Given the description of an element on the screen output the (x, y) to click on. 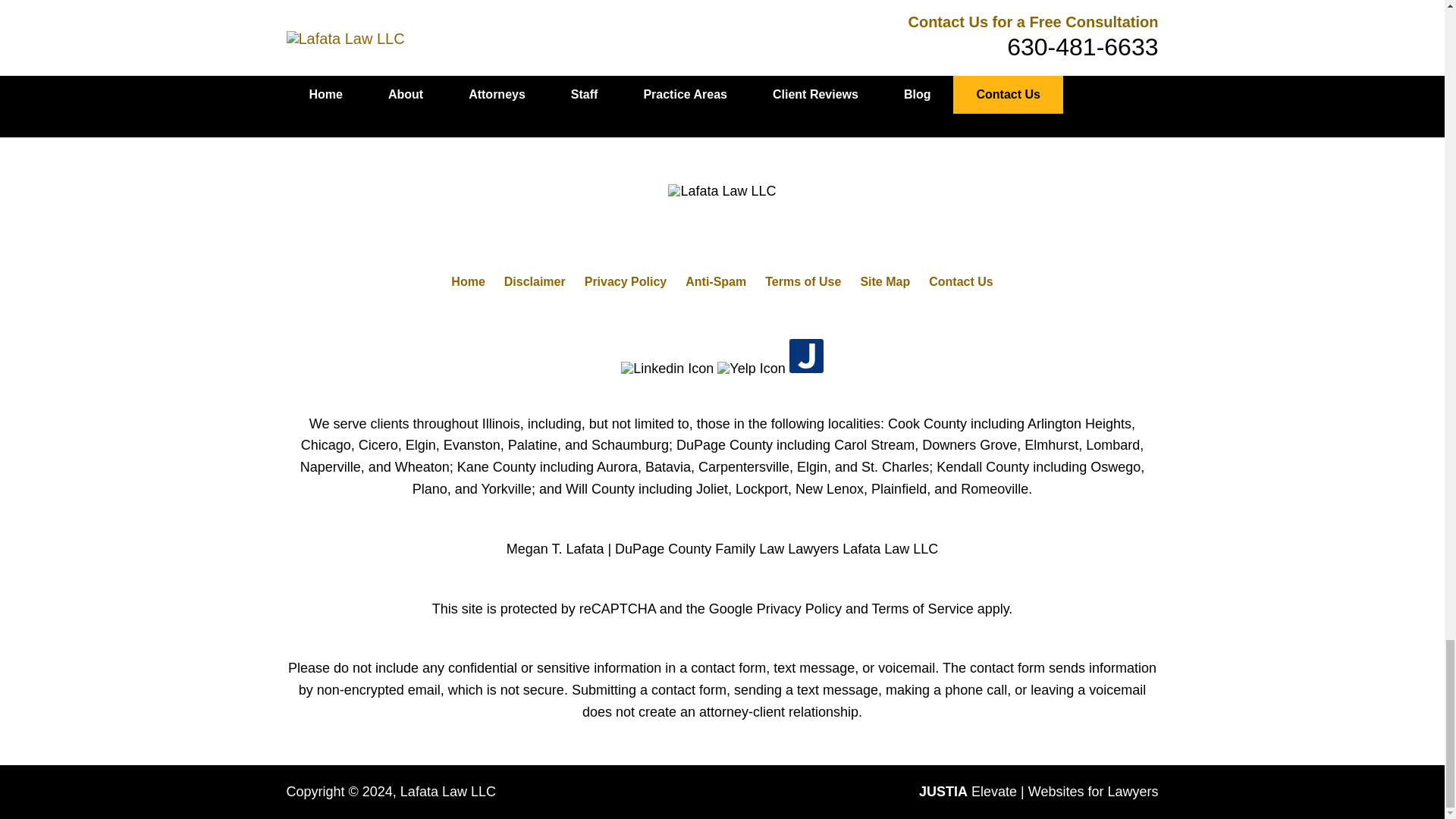
Terms of Use (803, 281)
Disclaimer (534, 281)
Linkedin (667, 368)
Lafata Law LLC (448, 791)
Contact Us (960, 281)
Site Map (885, 281)
Google Privacy Policy (775, 608)
Anti-Spam (715, 281)
Terms of Service (923, 608)
Yelp (750, 368)
Privacy Policy (625, 281)
Contact Us Now (950, 41)
Home (467, 281)
Justia (806, 357)
